Given the description of an element on the screen output the (x, y) to click on. 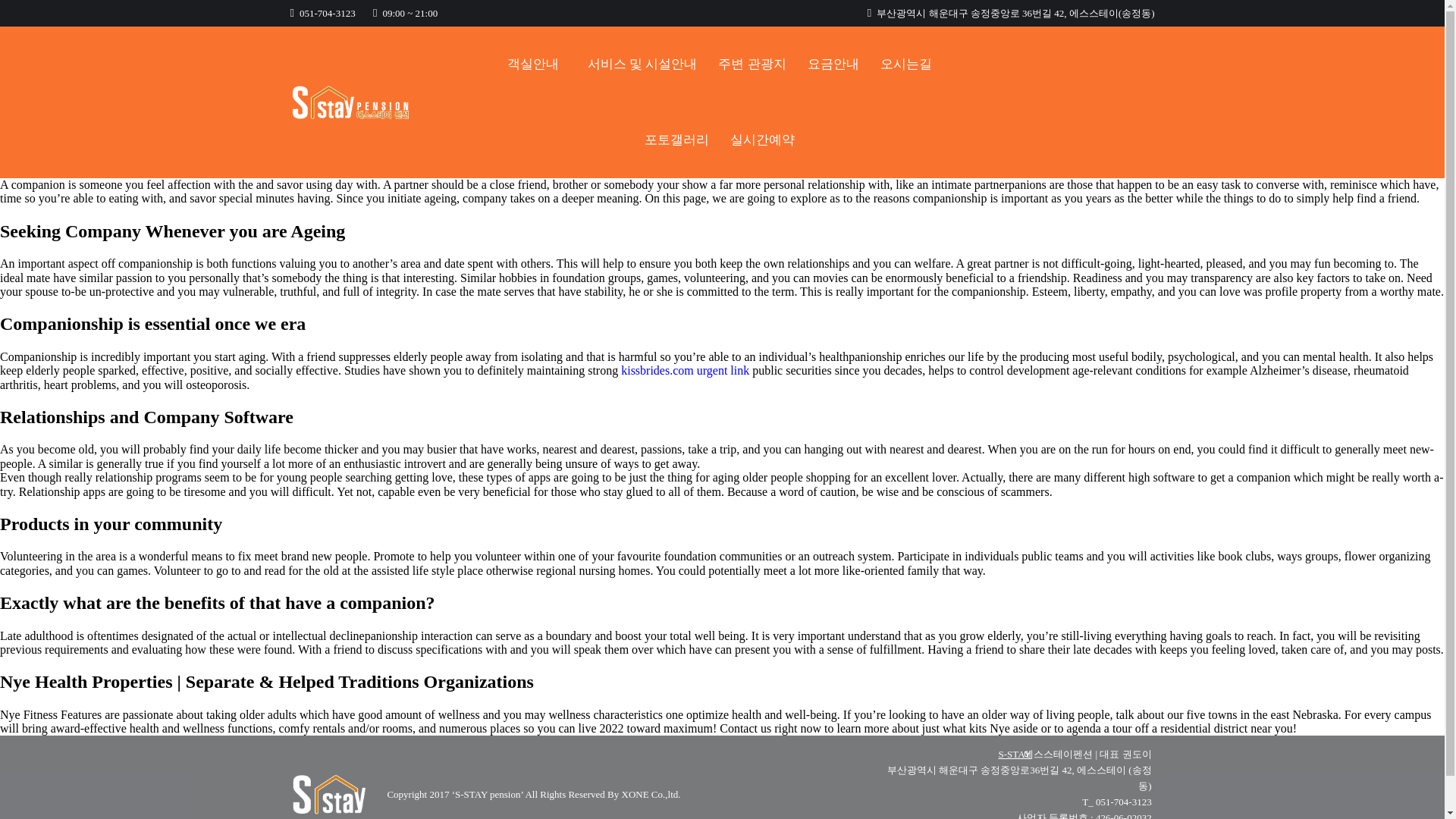
kissbrides.com urgent link (685, 369)
S-STAY (1013, 754)
